Given the description of an element on the screen output the (x, y) to click on. 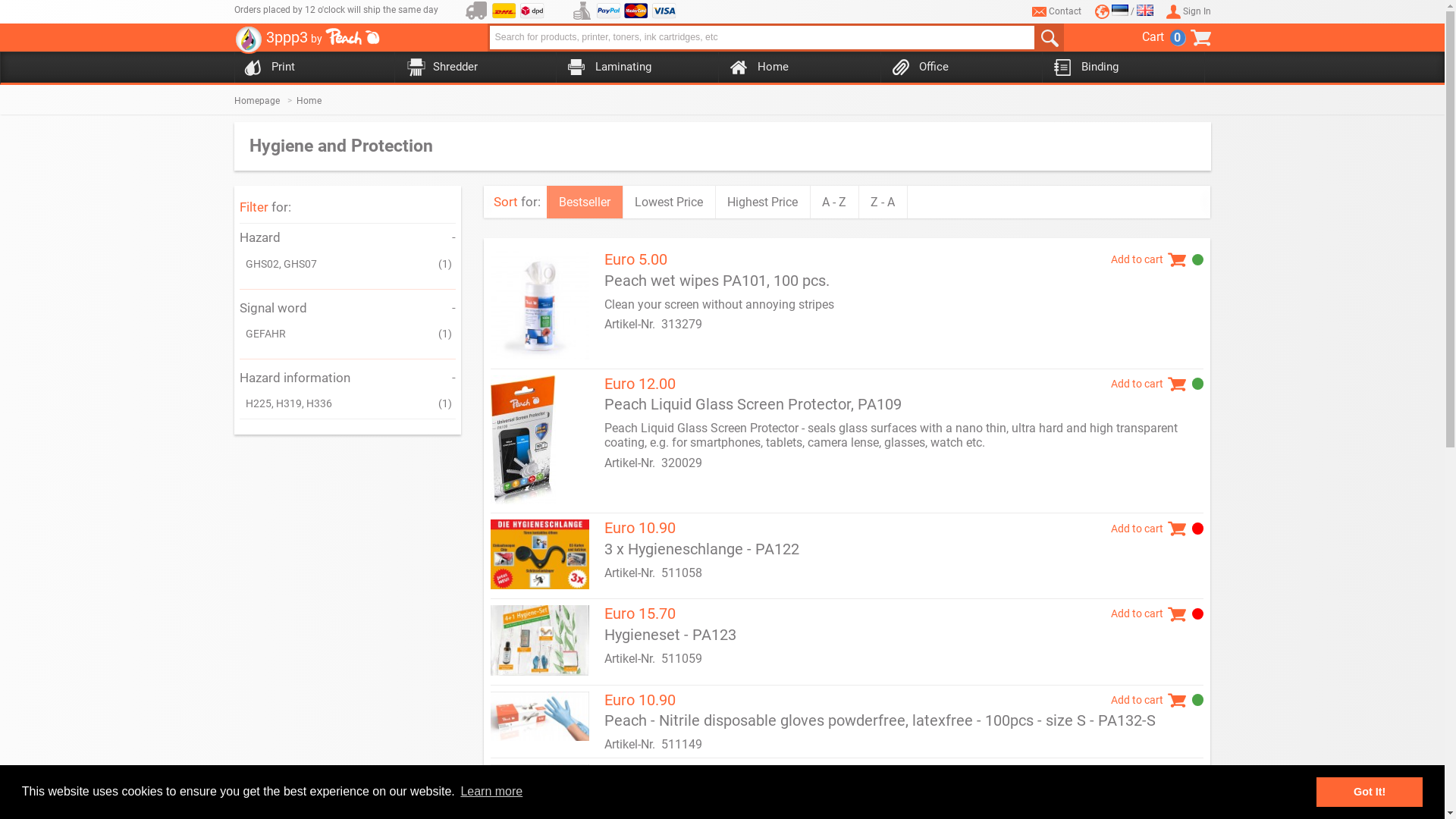
Signal word Element type: text (273, 307)
Hazard information Element type: text (294, 377)
Credit card Element type: hover (635, 9)
Hazard Element type: text (259, 236)
Shredder Element type: text (471, 67)
Laminating Element type: text (633, 67)
3ppp3 by Element type: text (306, 42)
Credit card Element type: hover (663, 9)
Binding Element type: text (1119, 67)
Payment Methods Element type: hover (581, 9)
Home Element type: text (315, 100)
Shipping Partner Element type: hover (475, 9)
Got It! Element type: text (1369, 791)
Homepage Element type: text (264, 100)
Learn more Element type: text (491, 791)
Office Element type: text (957, 67)
Home Element type: text (796, 67)
Print Element type: text (310, 67)
